Given the description of an element on the screen output the (x, y) to click on. 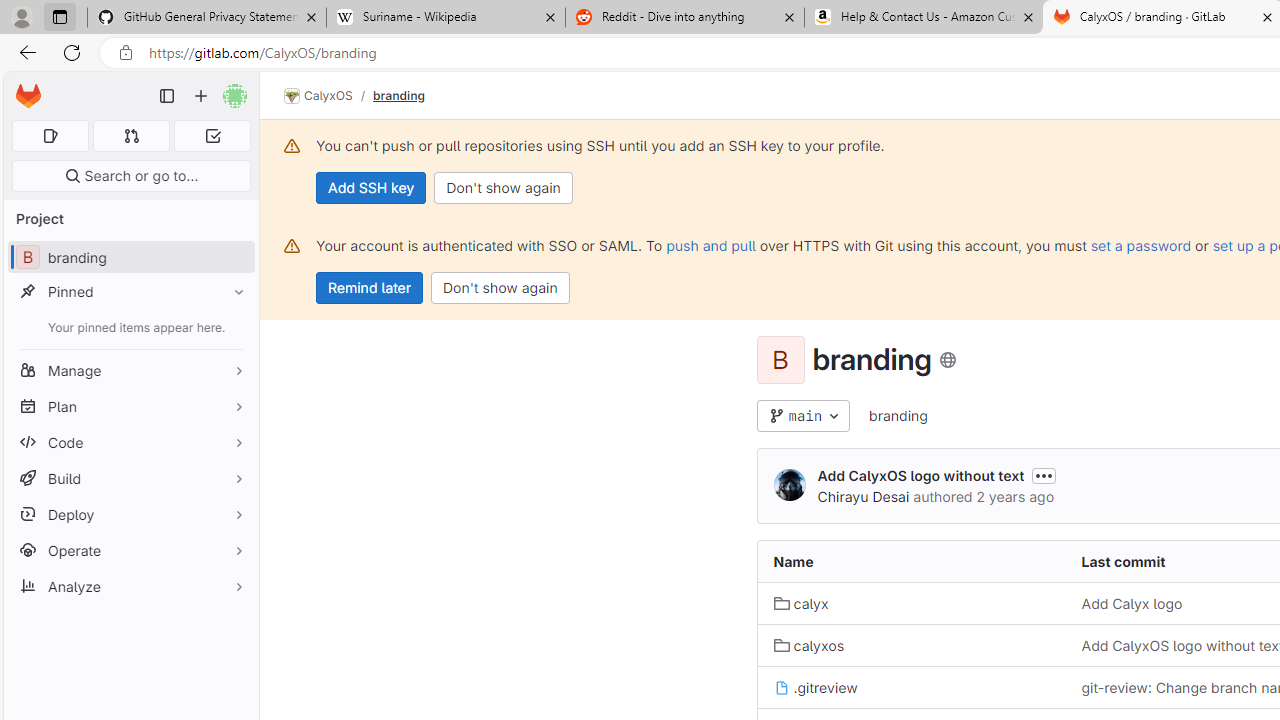
Pinned (130, 291)
Build (130, 478)
Remind later (369, 287)
CalyxOS/ (328, 96)
Primary navigation sidebar (167, 96)
Chirayu Desai's avatar (789, 484)
branding (898, 415)
Plan (130, 406)
Analyze (130, 586)
Deploy (130, 514)
branding (898, 416)
Merge requests 0 (131, 136)
Analyze (130, 586)
